Given the description of an element on the screen output the (x, y) to click on. 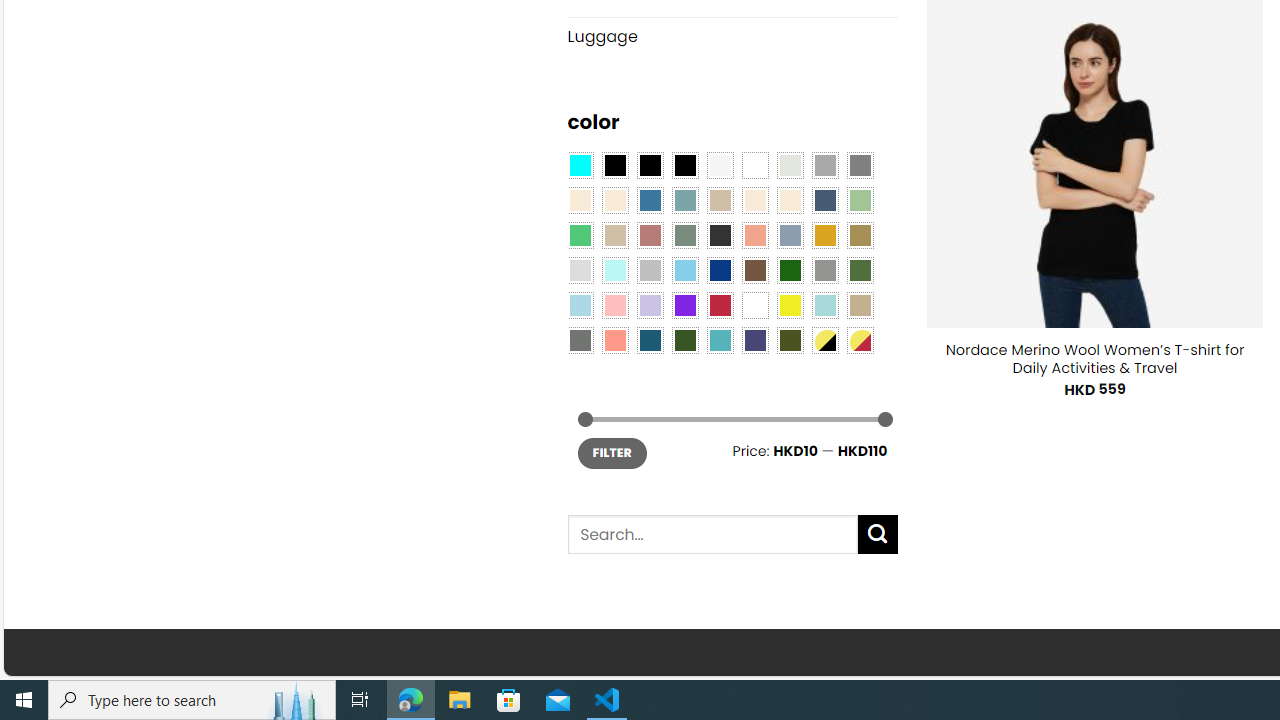
Rose (650, 234)
Red (719, 305)
Gold (824, 234)
White (755, 305)
Khaki (859, 305)
Kelp (859, 234)
Emerald Green (579, 234)
Search for: (712, 533)
Submit (877, 533)
Navy Blue (719, 269)
Pearly White (719, 164)
Beige (579, 200)
Pink (614, 305)
Army Green (789, 339)
Ash Gray (789, 164)
